Given the description of an element on the screen output the (x, y) to click on. 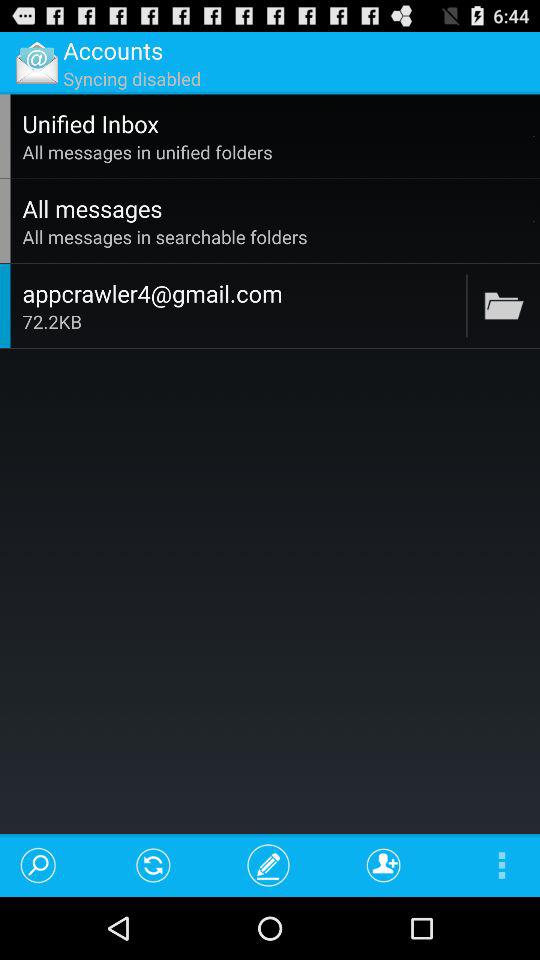
select the item above 72.2kb item (241, 293)
